Given the description of an element on the screen output the (x, y) to click on. 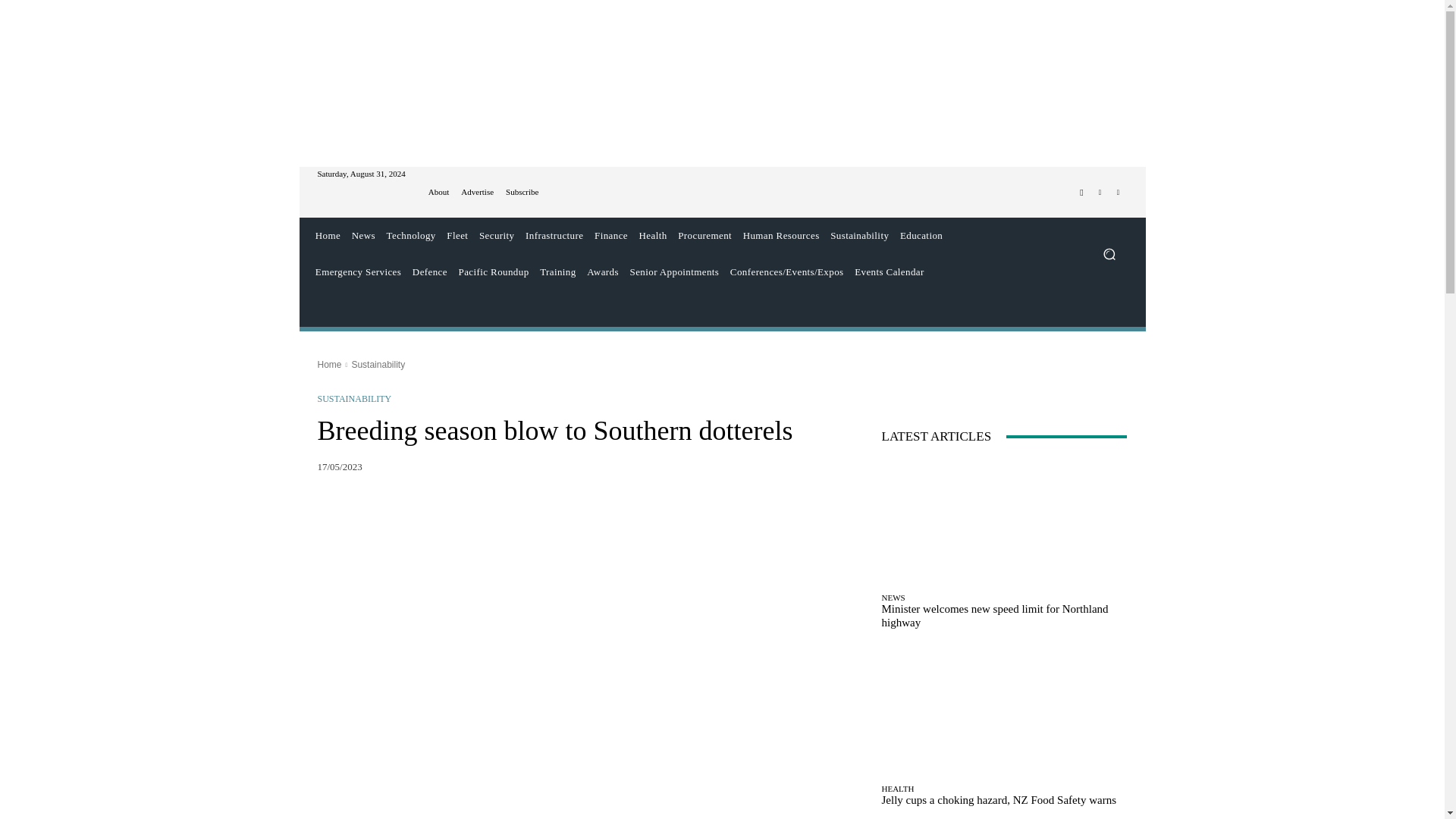
About (438, 192)
Twitter (1099, 192)
Procurement (704, 235)
Finance (611, 235)
Home (327, 235)
Health (652, 235)
Infrastructure (554, 235)
Subscribe (521, 192)
Sustainability (860, 235)
Human Resources (780, 235)
